Given the description of an element on the screen output the (x, y) to click on. 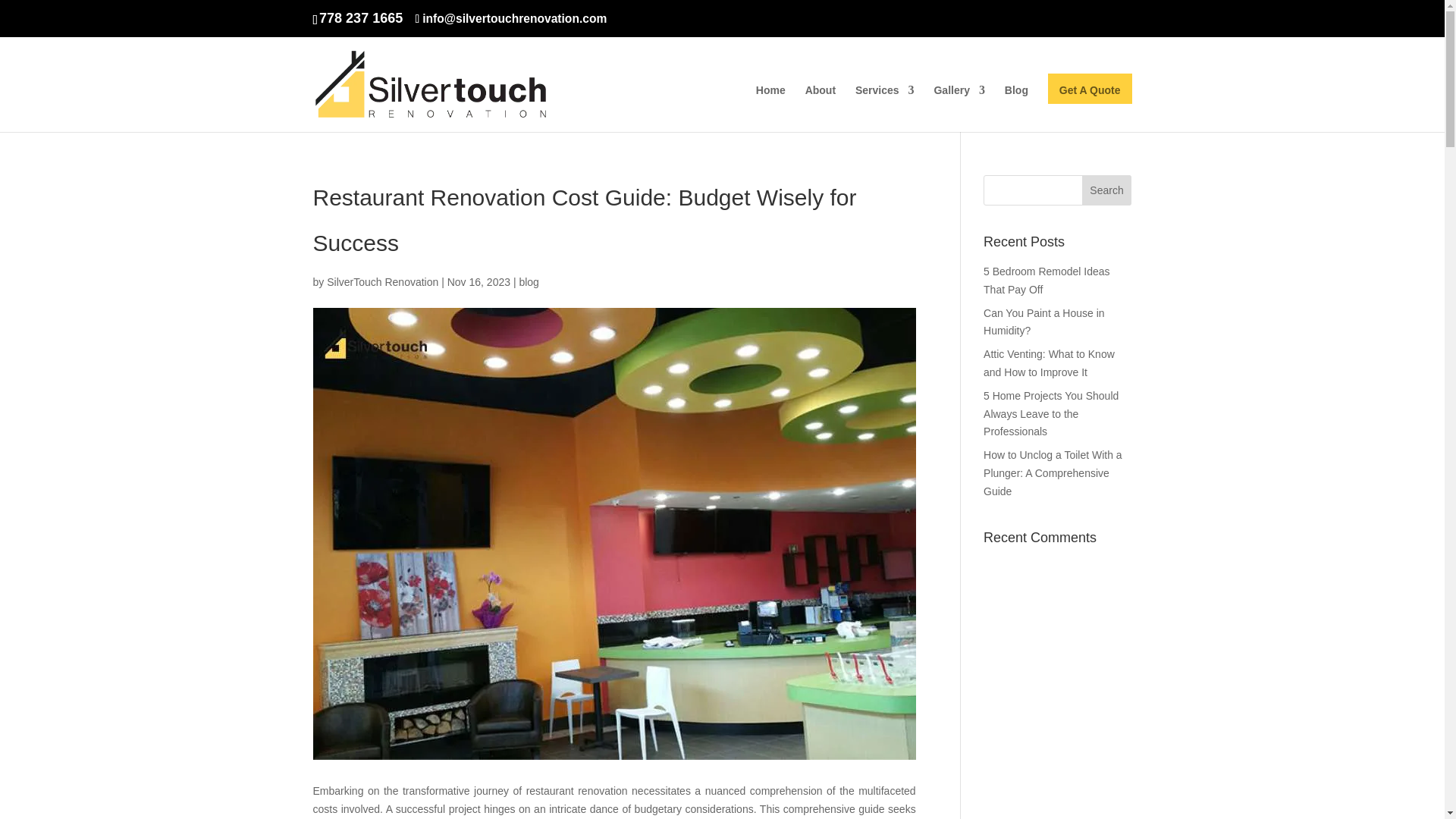
5 Bedroom Remodel Ideas That Pay Off (1046, 280)
Search (1106, 190)
About (820, 108)
blog (528, 282)
Get A Quote (1090, 108)
Home (770, 108)
Blog (1015, 108)
SilverTouch Renovation (382, 282)
Gallery (958, 108)
Search (1106, 190)
Posts by SilverTouch Renovation (382, 282)
Services (885, 108)
778 237 1665 (360, 17)
